Given the description of an element on the screen output the (x, y) to click on. 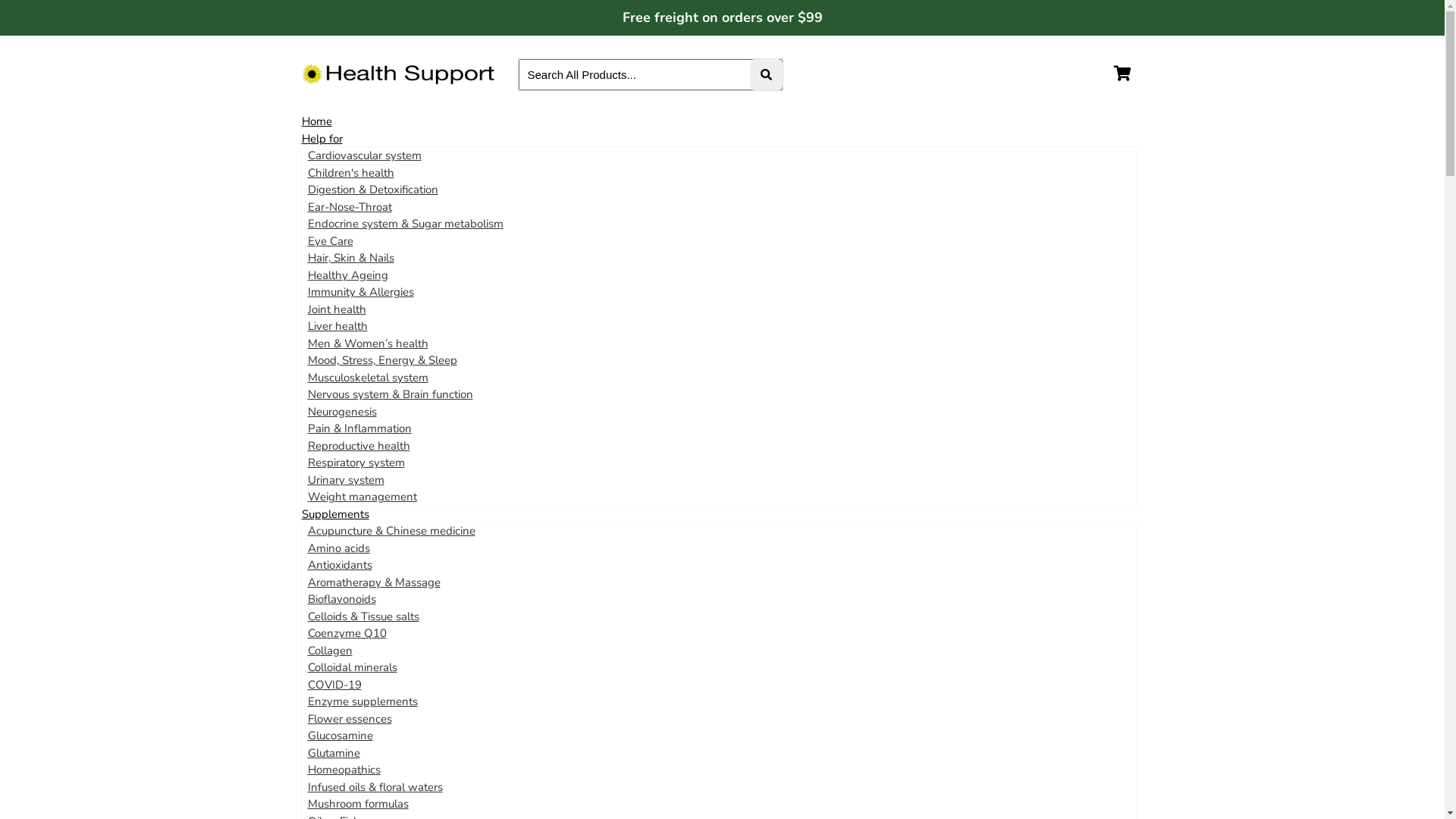
Pain & Inflammation Element type: text (359, 428)
Glucosamine Element type: text (340, 735)
Antioxidants Element type: text (339, 564)
Immunity & Allergies Element type: text (360, 291)
Respiratory system Element type: text (356, 462)
Infused oils & floral waters Element type: text (374, 786)
Celloids & Tissue salts Element type: text (363, 615)
Weight management Element type: text (362, 496)
Neurogenesis Element type: text (341, 410)
Nervous system & Brain function Element type: text (390, 393)
Supplements Element type: text (335, 513)
Endocrine system & Sugar metabolism Element type: text (405, 223)
Help for Element type: text (321, 137)
Aromatherapy & Massage Element type: text (373, 582)
Acupuncture & Chinese medicine Element type: text (391, 530)
Digestion & Detoxification Element type: text (372, 189)
Hair, Skin & Nails Element type: text (350, 257)
Ear-Nose-Throat Element type: text (349, 205)
Mood, Stress, Energy & Sleep Element type: text (382, 359)
View my shopping cart Element type: hover (1127, 73)
Flower essences Element type: text (349, 718)
Coenzyme Q10 Element type: text (346, 632)
Amino acids Element type: text (338, 547)
Mushroom formulas Element type: text (357, 803)
Glutamine Element type: text (333, 751)
Liver health Element type: text (337, 325)
Musculoskeletal system Element type: text (367, 377)
Cardiovascular system Element type: text (364, 155)
Home Element type: text (316, 120)
Urinary system Element type: text (345, 478)
Joint health Element type: text (336, 309)
Homeopathics Element type: text (343, 769)
Colloidal minerals Element type: text (352, 666)
Children's health Element type: text (350, 172)
COVID-19 Element type: text (334, 683)
Bioflavonoids Element type: text (341, 598)
Reproductive health Element type: text (358, 445)
Healthy Ageing Element type: text (347, 274)
Enzyme supplements Element type: text (362, 701)
Collagen Element type: text (329, 650)
Eye Care Element type: text (330, 240)
